Given the description of an element on the screen output the (x, y) to click on. 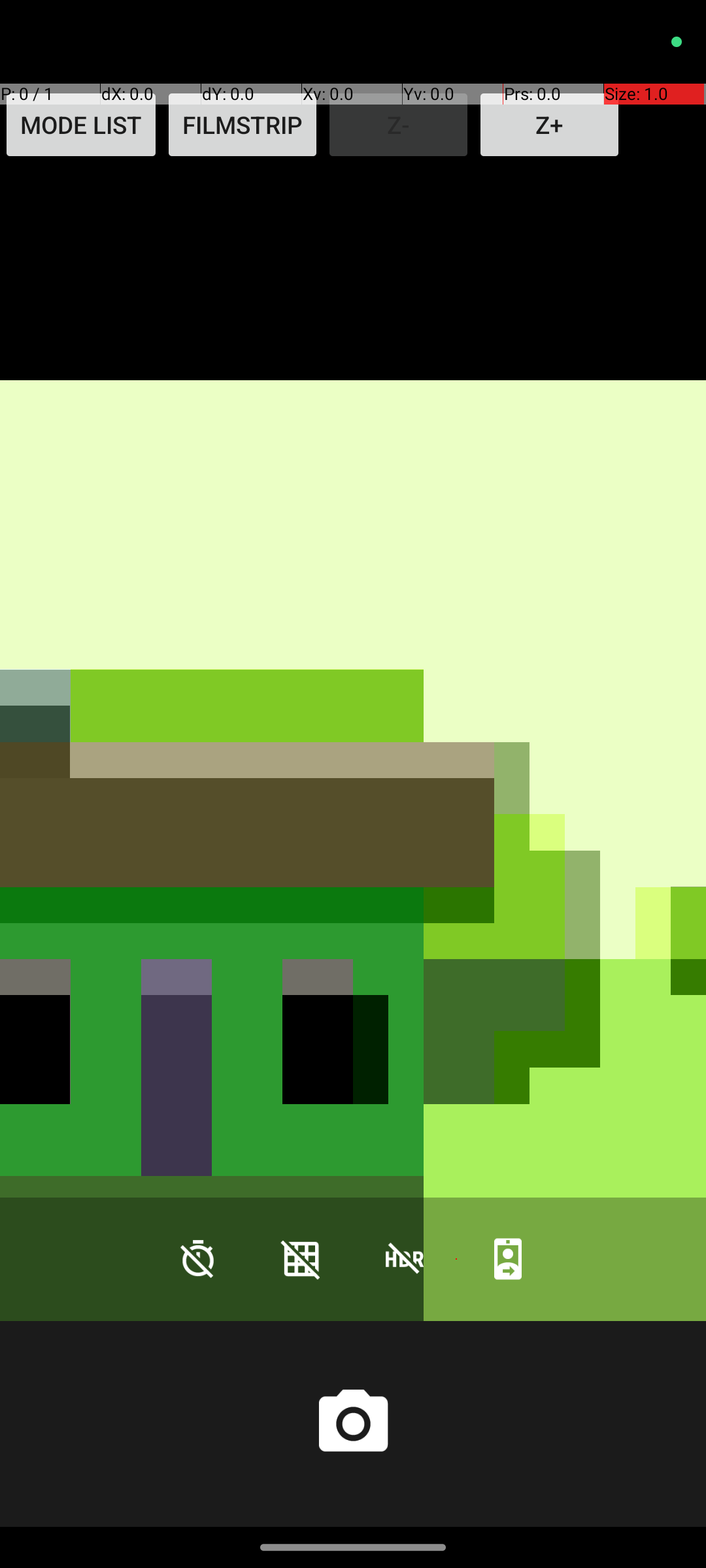
Shutter Element type: android.widget.ImageView (353, 1423)
Countdown timer is off Element type: android.widget.ImageButton (197, 1258)
Grid lines off Element type: android.widget.ImageButton (301, 1258)
HDR off Element type: android.widget.ImageButton (404, 1258)
Front camera Element type: android.widget.ImageButton (507, 1258)
